Given the description of an element on the screen output the (x, y) to click on. 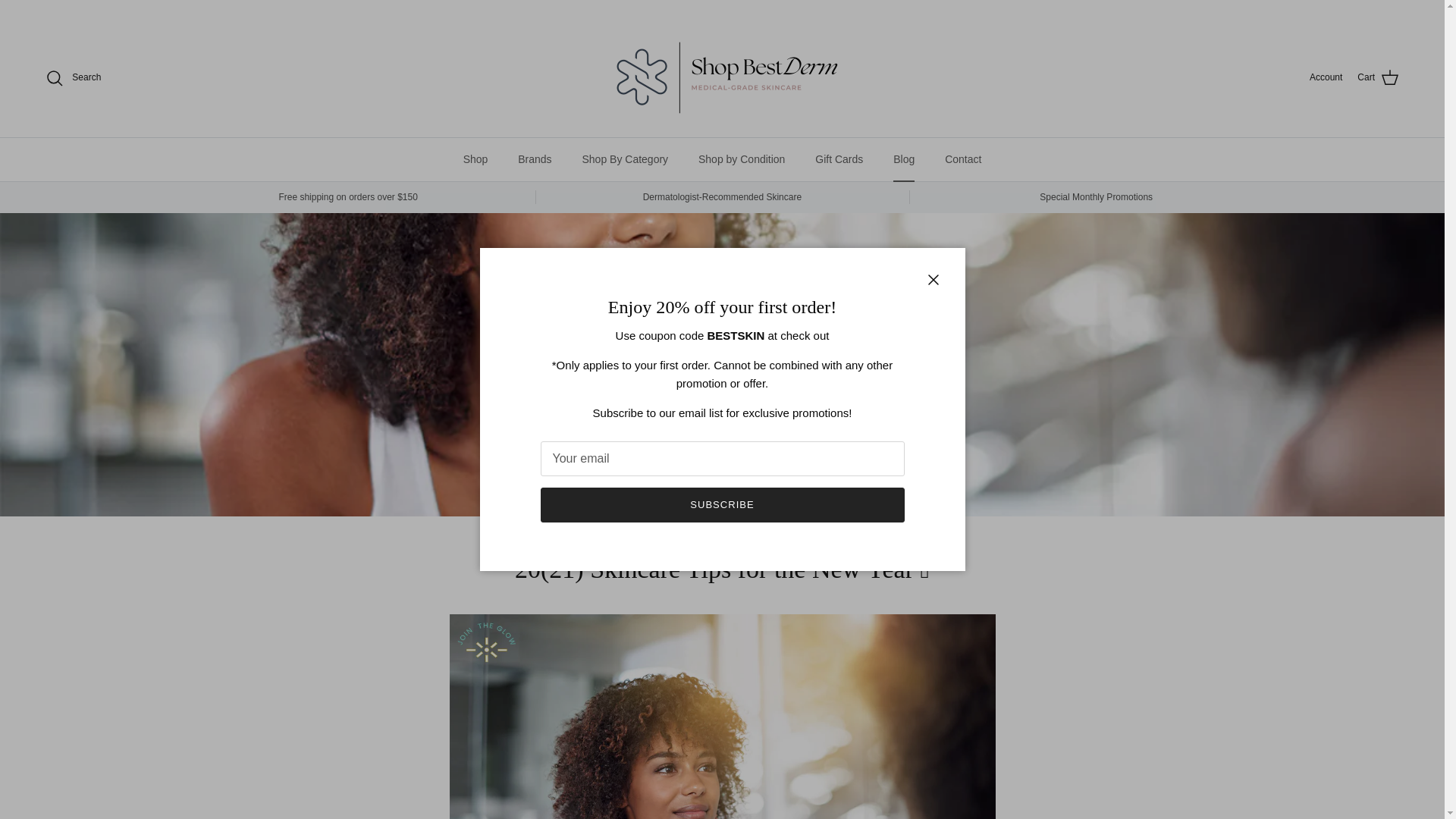
Cart (1377, 77)
Shop by Condition (740, 159)
Account (1325, 77)
Shop (475, 159)
Shop BestDerm (721, 77)
Brands (533, 159)
Shop By Category (624, 159)
Search (72, 76)
